Given the description of an element on the screen output the (x, y) to click on. 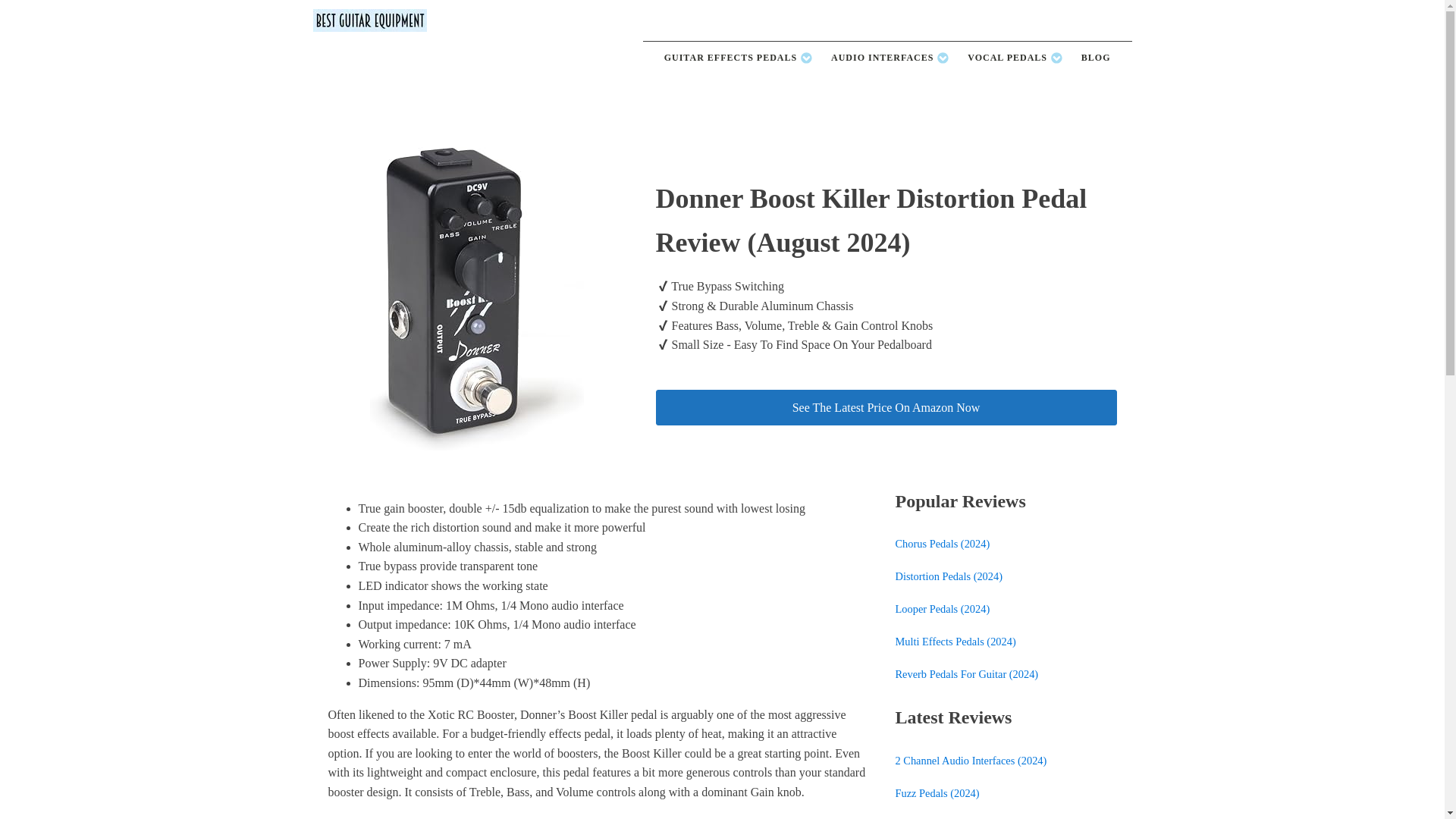
AUDIO INTERFACES (890, 58)
See The Latest Price On Amazon Now (885, 407)
BLOG (1095, 58)
VOCAL PEDALS (1014, 58)
GUITAR EFFECTS PEDALS (738, 58)
Best Guitar Equipment (369, 20)
